Given the description of an element on the screen output the (x, y) to click on. 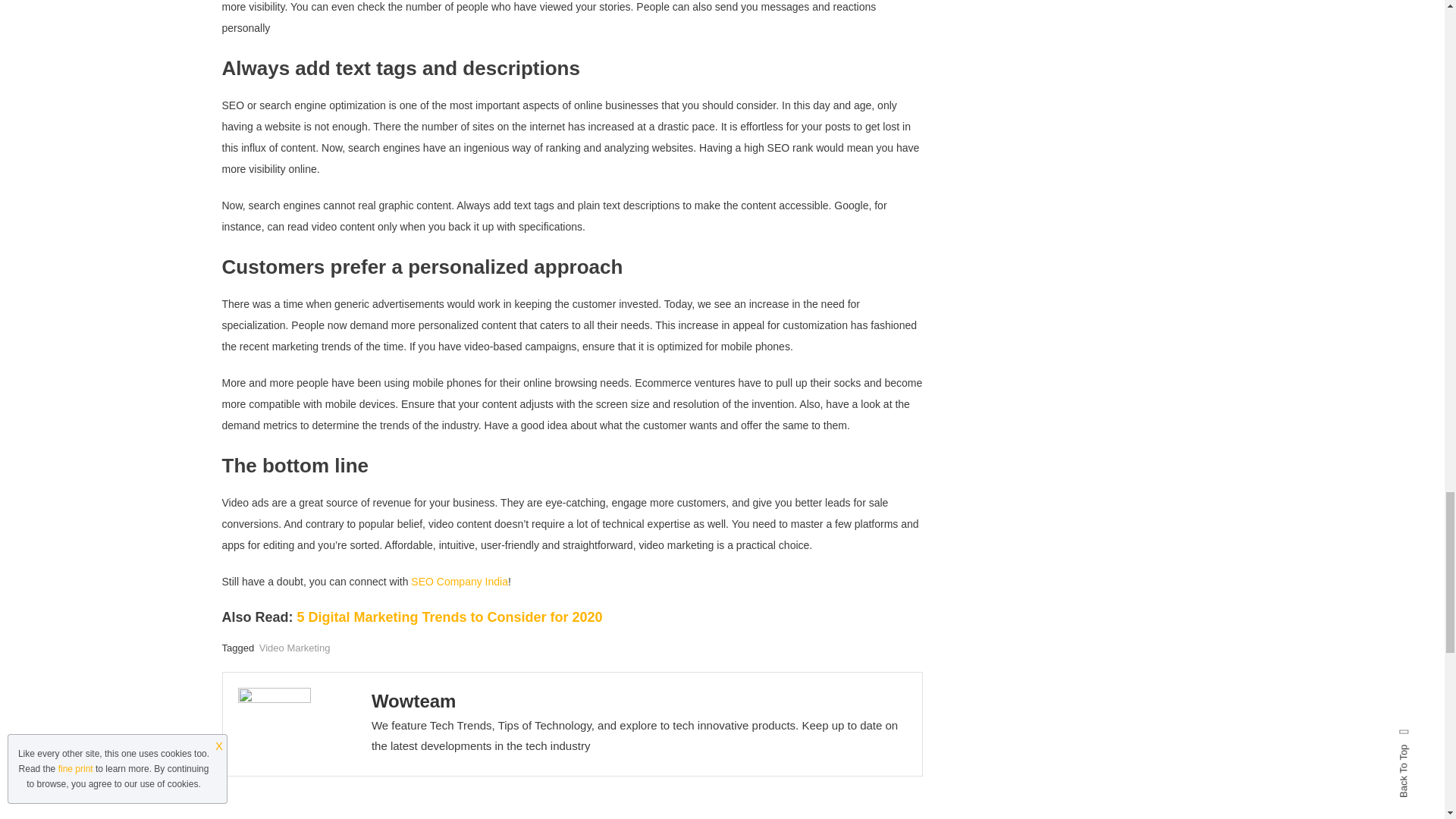
SEO Company India (459, 581)
Wowteam (414, 701)
Video Marketing (294, 647)
Posts by wowteam (414, 701)
5 Digital Marketing Trends to Consider for 2020 (449, 616)
